Given the description of an element on the screen output the (x, y) to click on. 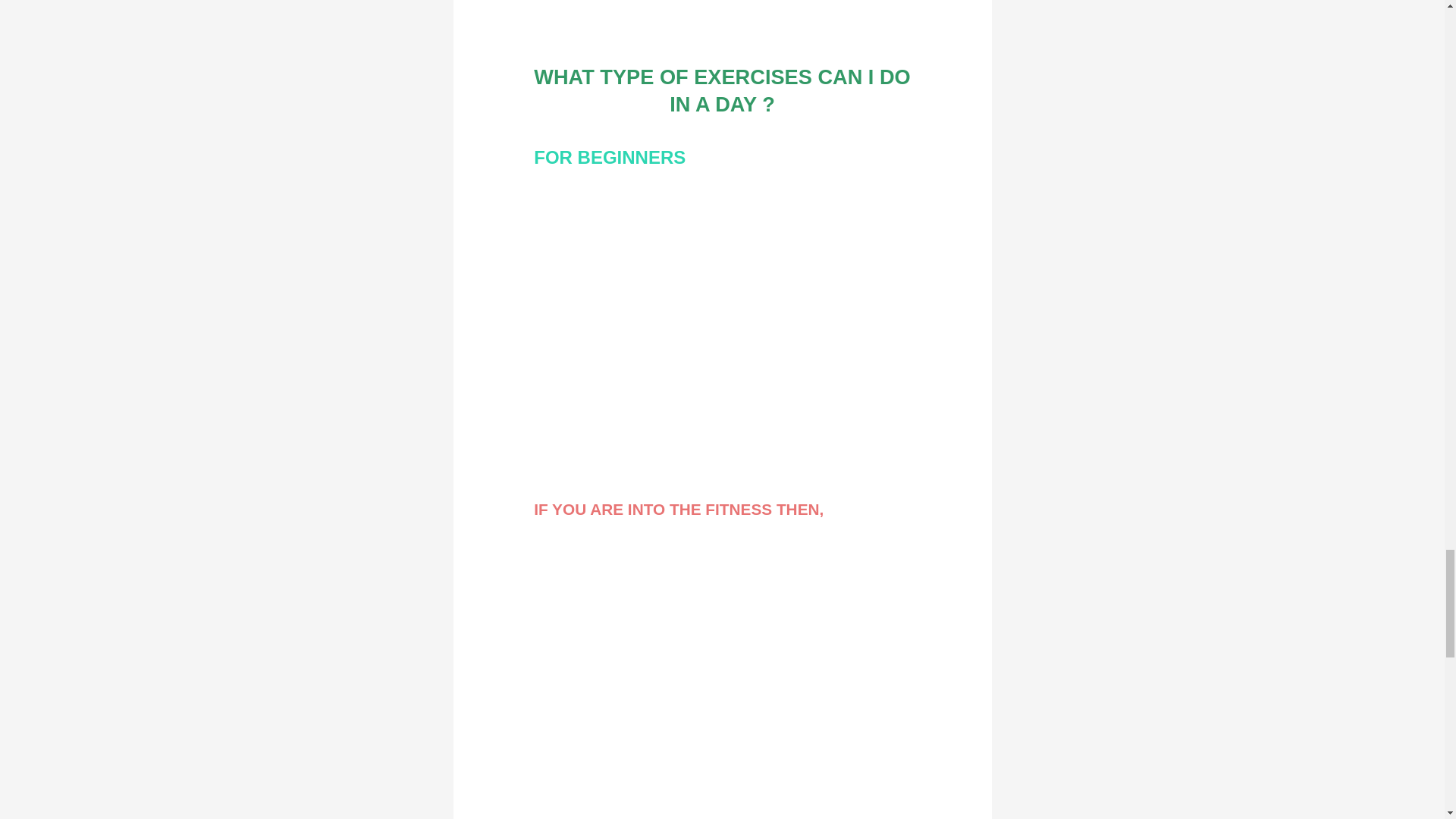
YouTube video player (722, 304)
YouTube video player (722, 655)
